Given the description of an element on the screen output the (x, y) to click on. 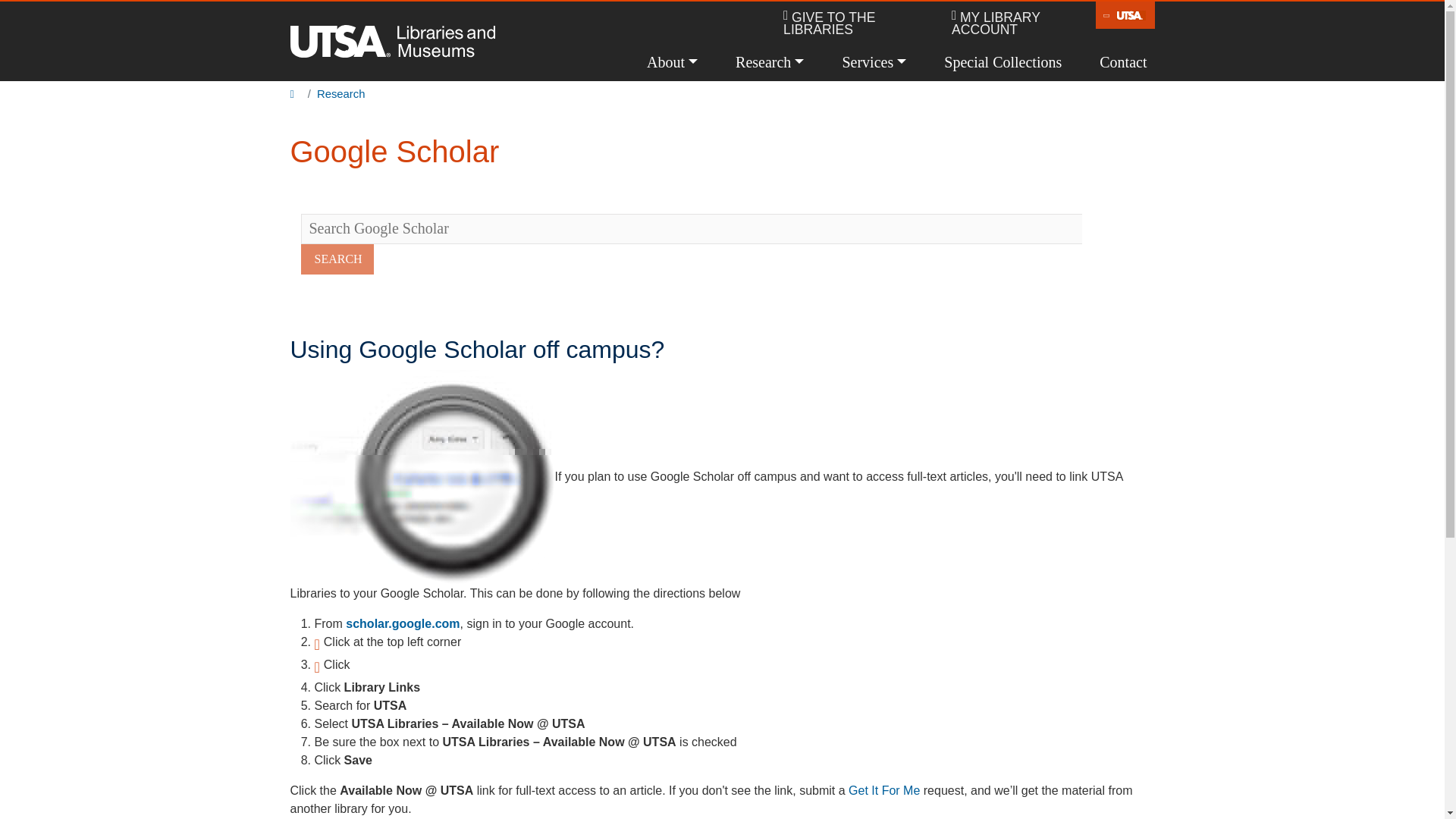
About (671, 62)
Search (335, 259)
About the UTSA Libraries (671, 62)
View your UTSA Libraries account (1024, 23)
Research (769, 62)
Donate to the UTSA Libraries (855, 23)
UTSA LINKS (1125, 14)
UTSA Libraries Home Link (392, 41)
 GIVE TO THE LIBRARIES (855, 23)
Research and Find Information (769, 62)
